Given the description of an element on the screen output the (x, y) to click on. 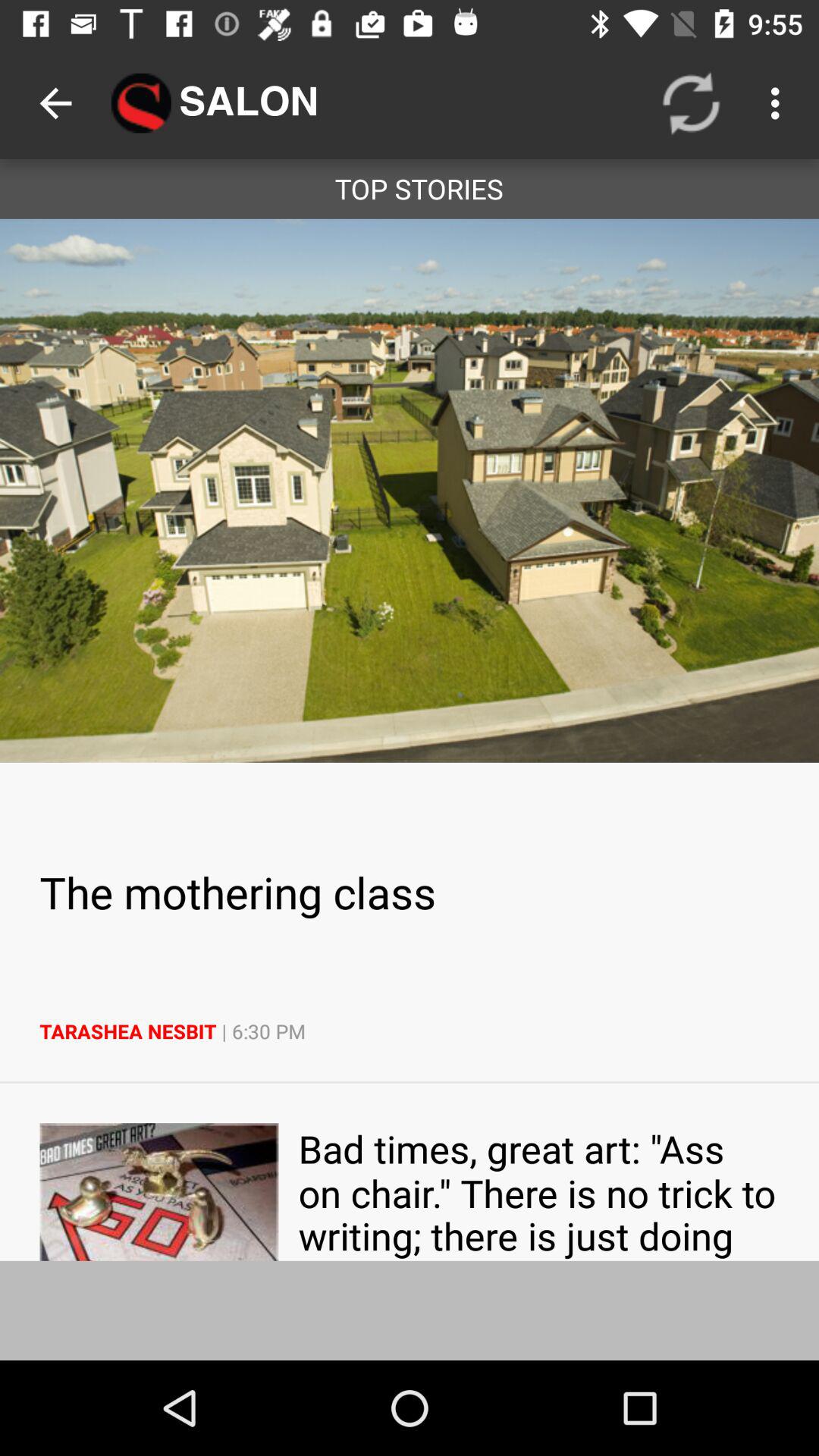
select icon next to salon icon (691, 103)
